Given the description of an element on the screen output the (x, y) to click on. 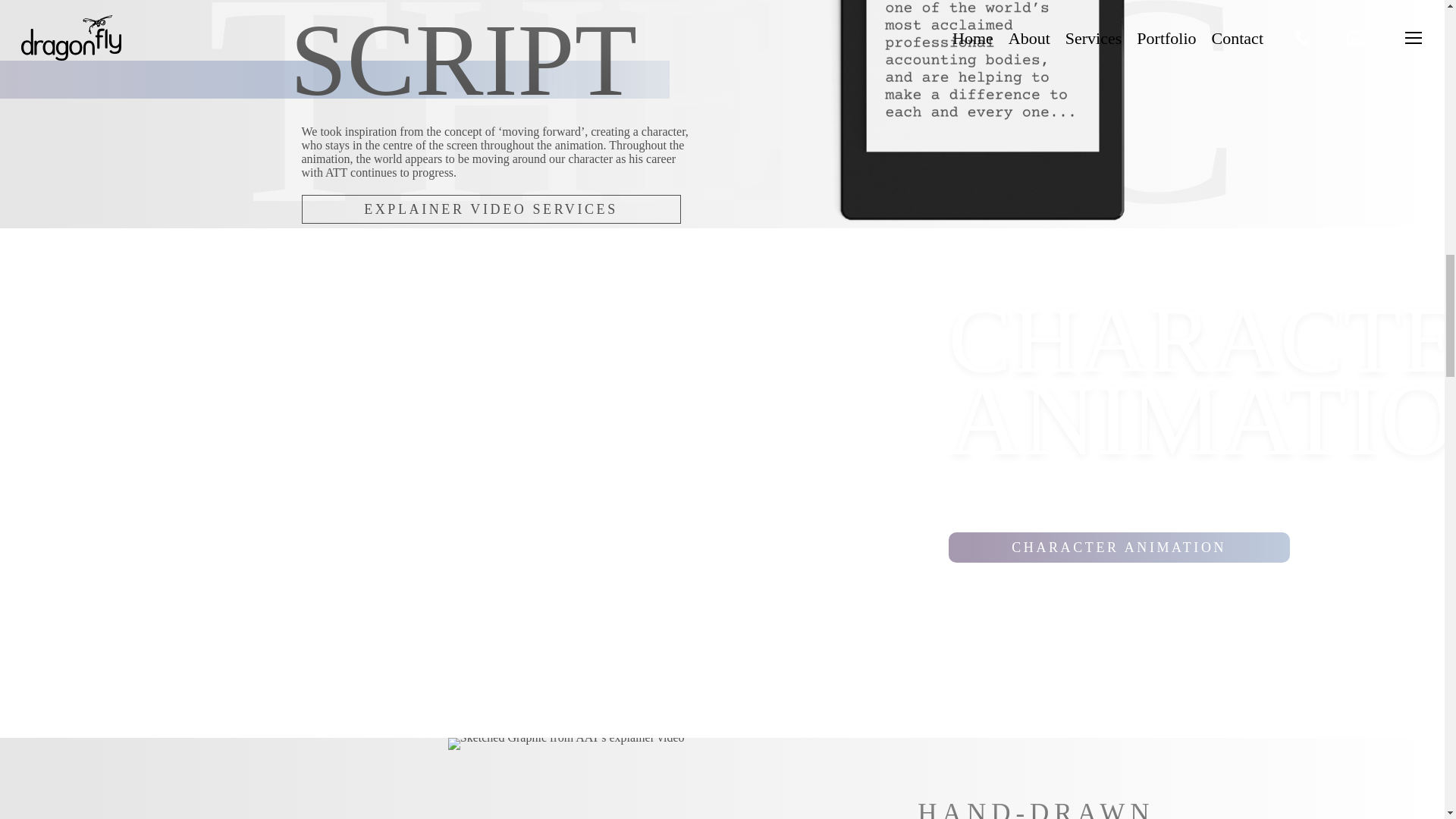
EXPLAINER VIDEO SERVICES (491, 208)
Sketched Graphic From Aat'S Explainer Video (566, 778)
CHARACTER ANIMATION (1119, 547)
